Given the description of an element on the screen output the (x, y) to click on. 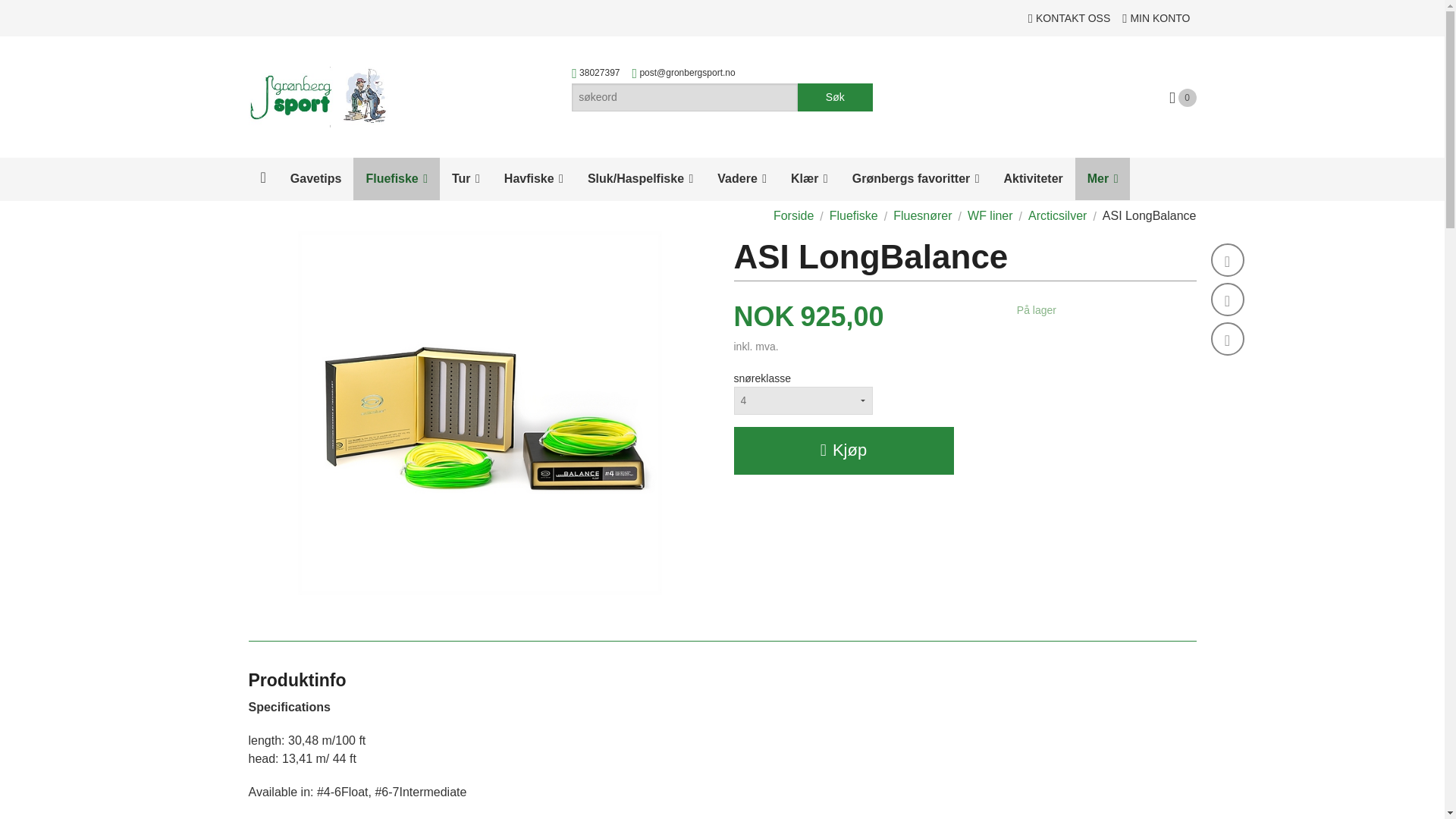
Fluefiske (396, 178)
MIN KONTO (1155, 18)
KONTAKT OSS (1069, 18)
0 (1182, 97)
Gavetips (315, 178)
38027397 (599, 75)
